Given the description of an element on the screen output the (x, y) to click on. 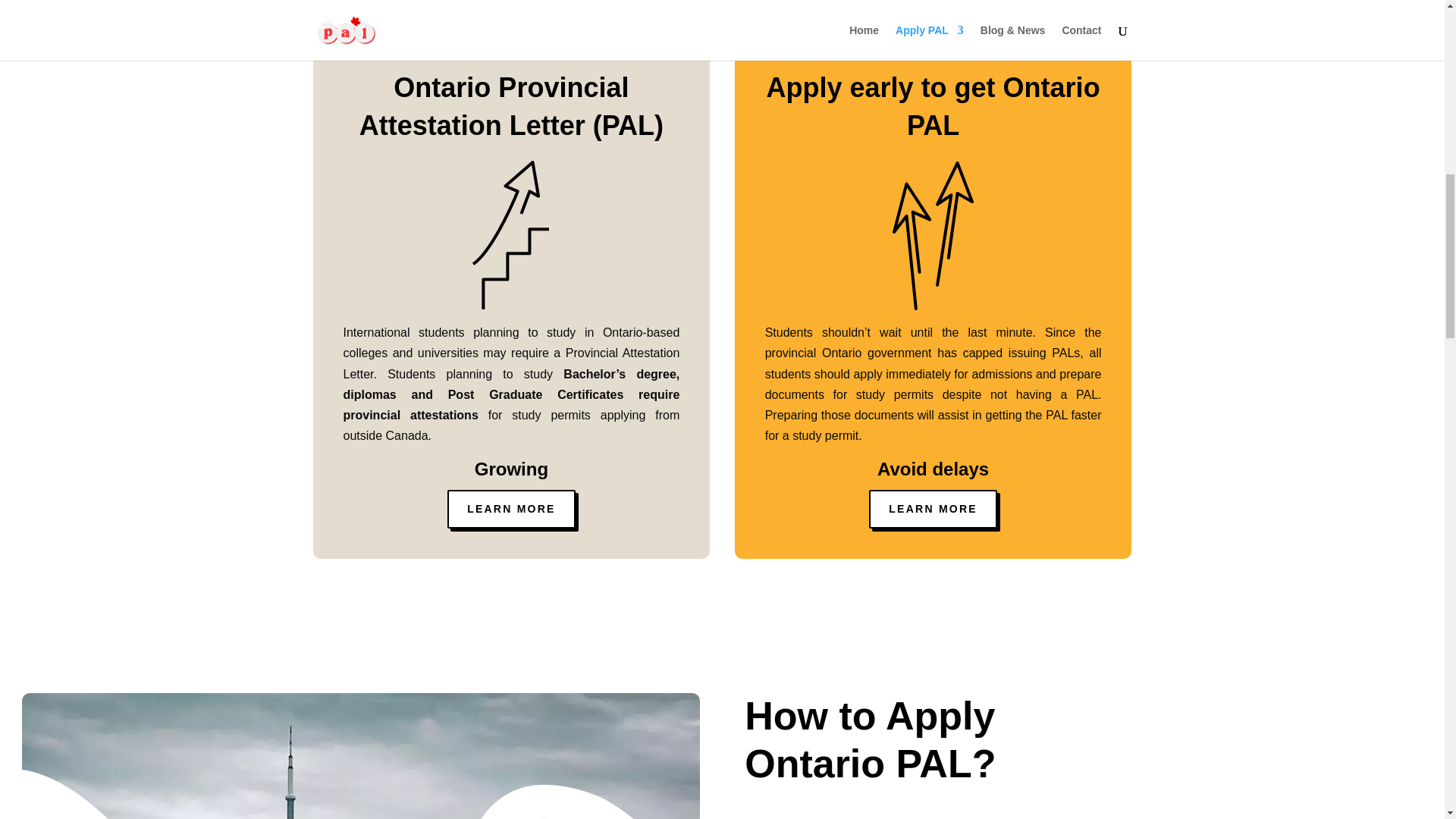
career-coach-4 (359, 794)
LEARN MORE (510, 509)
LEARN MORE (933, 509)
